Given the description of an element on the screen output the (x, y) to click on. 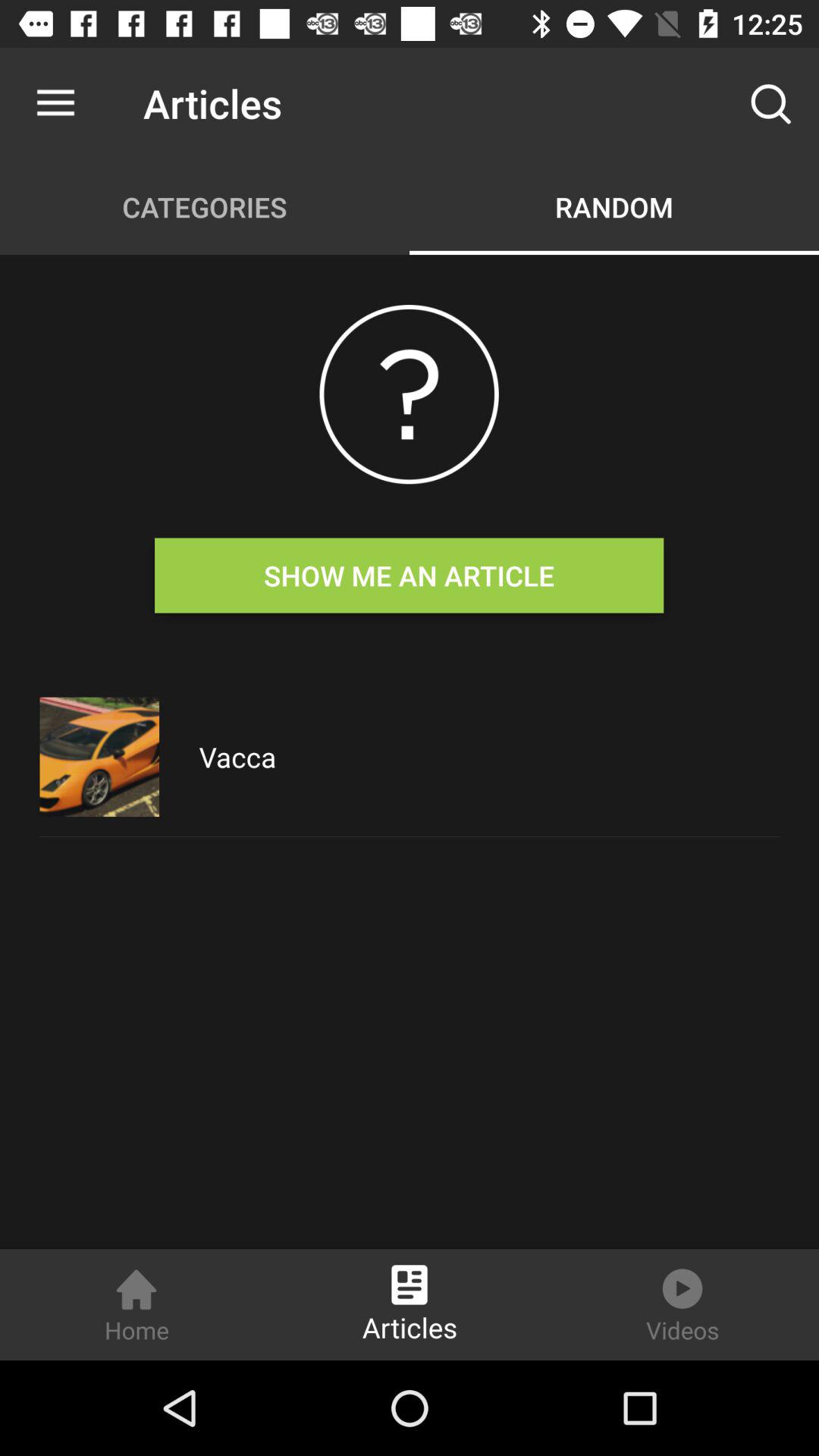
open item next to articles icon (55, 103)
